Given the description of an element on the screen output the (x, y) to click on. 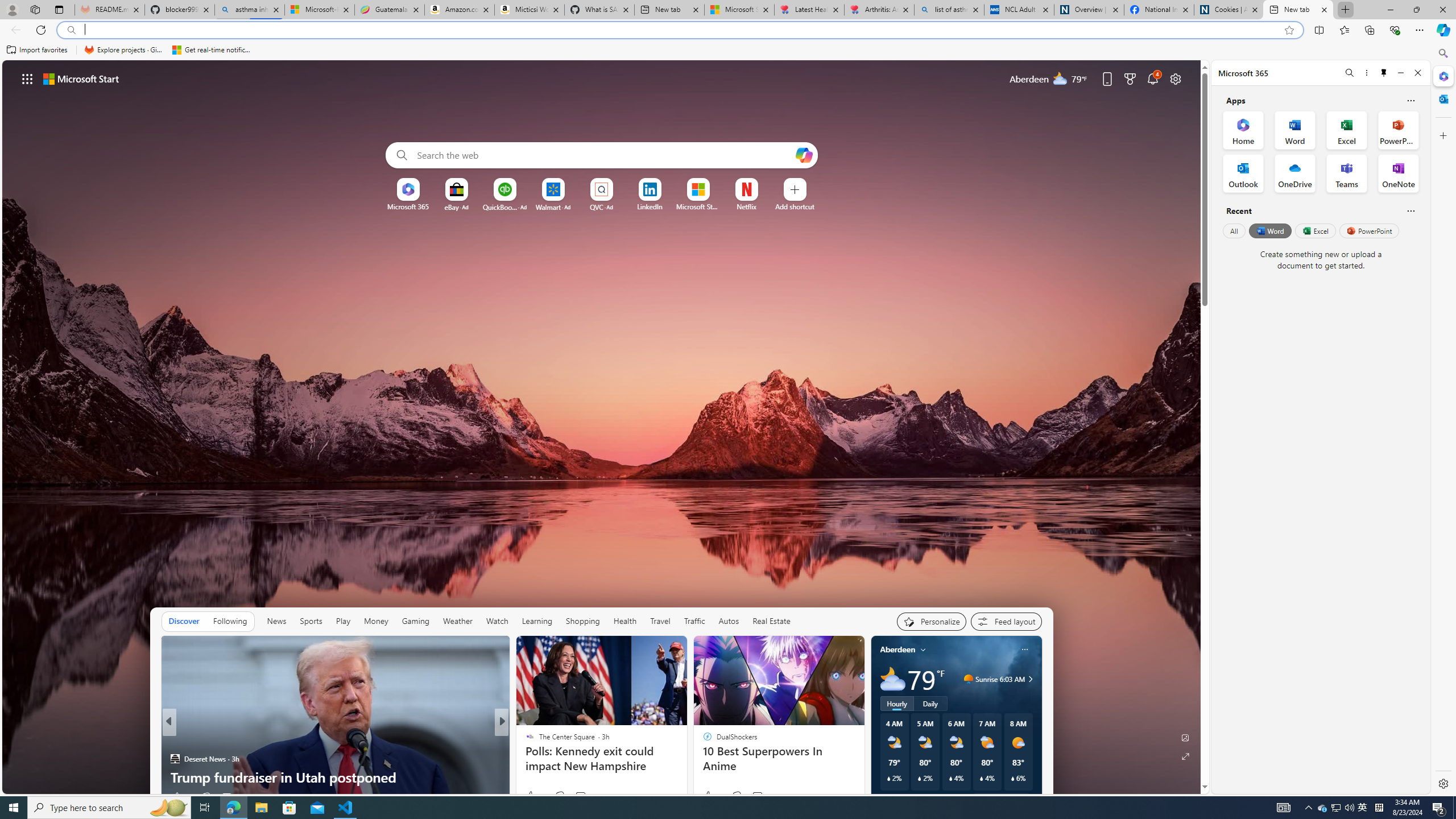
CNBC (524, 740)
Outlook Office App (1243, 172)
319 Like (532, 796)
Favorites bar (715, 49)
